Given the description of an element on the screen output the (x, y) to click on. 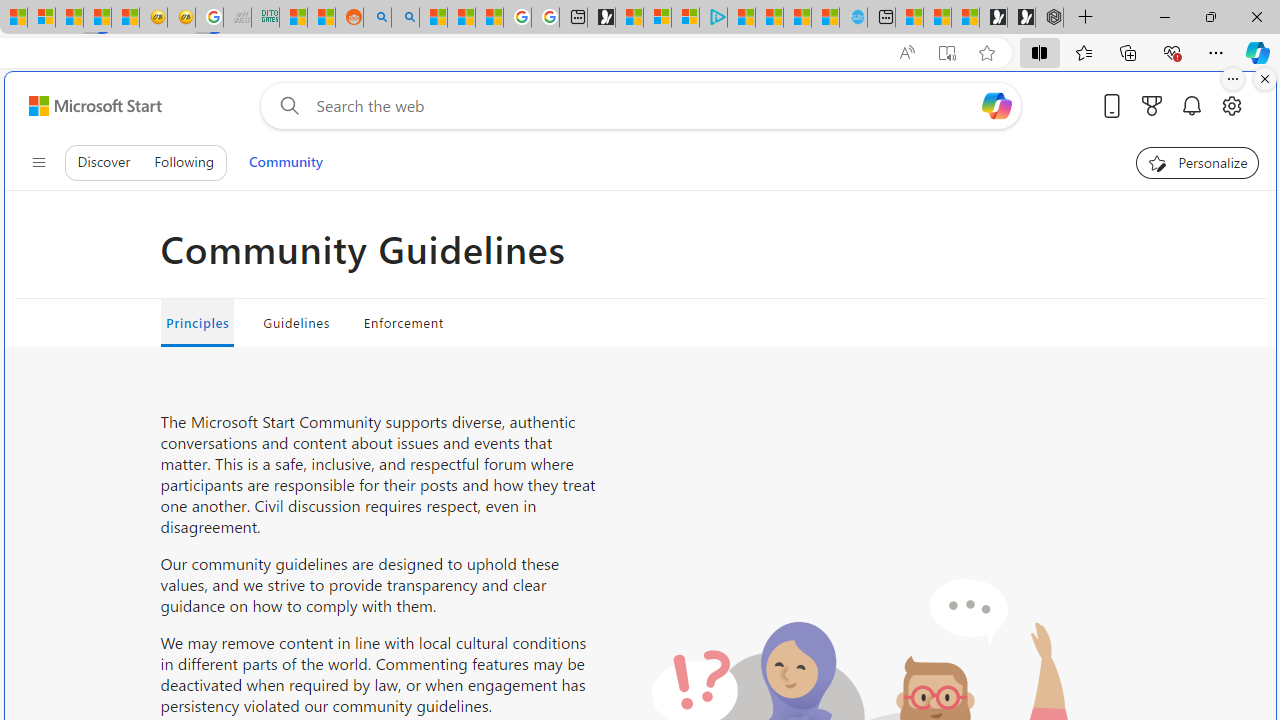
Open settings (1231, 105)
Microsoft account | Privacy (685, 17)
Enter your search term (644, 106)
Notifications (1192, 105)
Enforcement (403, 322)
Personalize your feed" (1197, 162)
Home | Sky Blue Bikes - Sky Blue Bikes (852, 17)
